Given the description of an element on the screen output the (x, y) to click on. 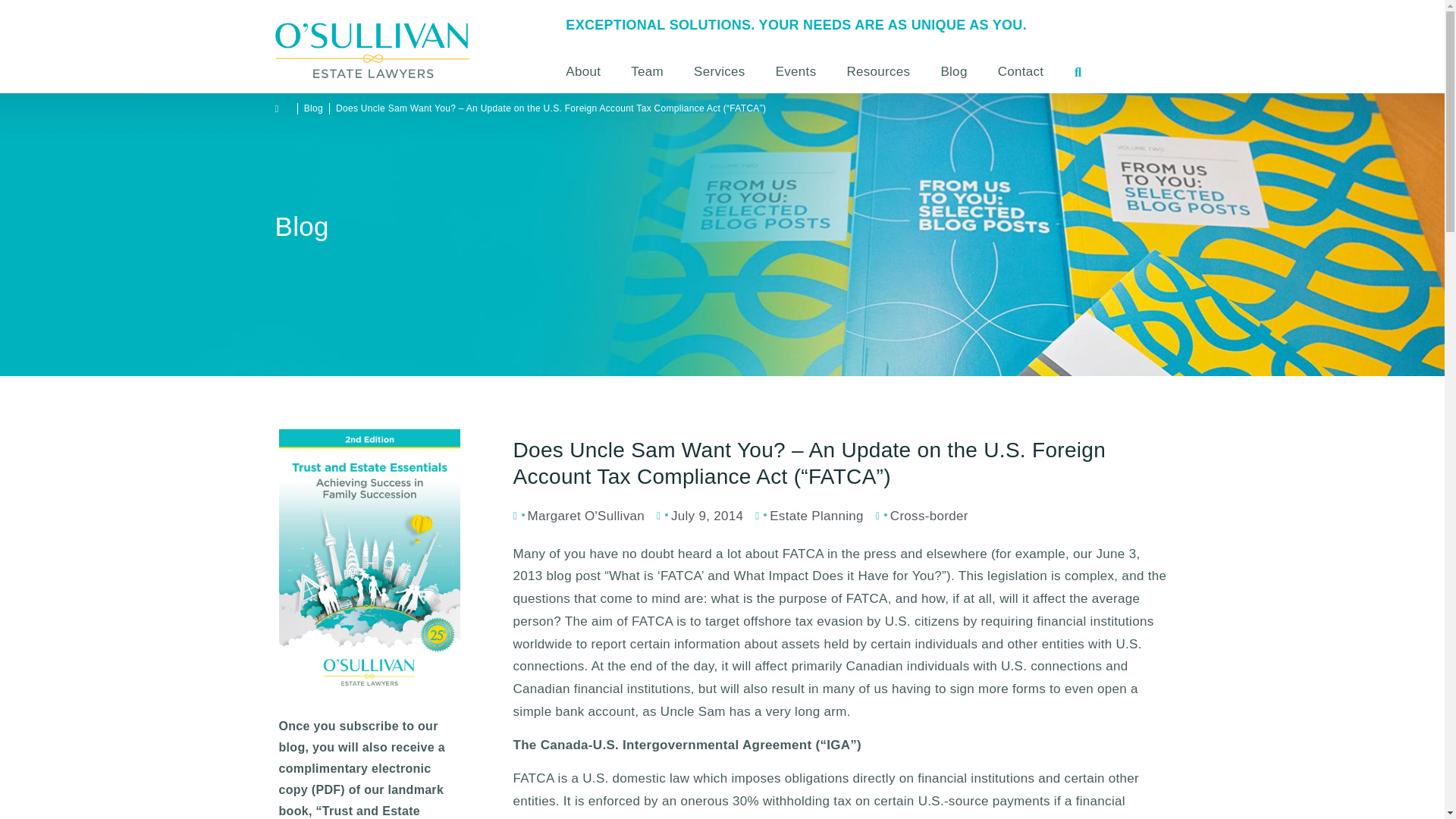
Contact (1020, 71)
Events (795, 71)
Resources (877, 71)
Services (719, 71)
About (590, 71)
Team (646, 71)
Blog (952, 71)
